Given the description of an element on the screen output the (x, y) to click on. 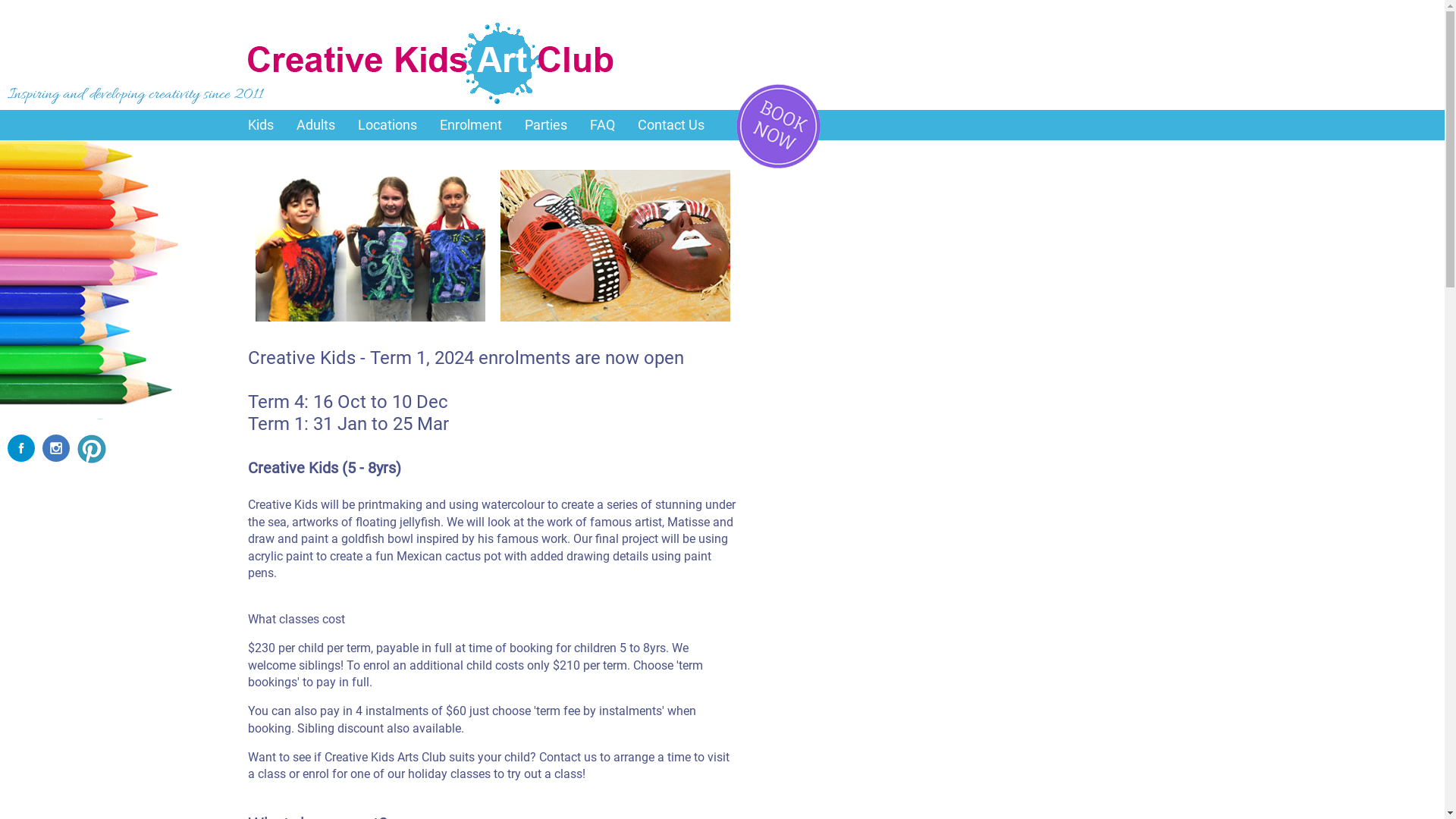
Kids Element type: text (260, 124)
Locations Element type: text (387, 124)
FAQ Element type: text (602, 124)
Contact Us Element type: text (670, 124)
Book Now Element type: text (778, 126)
Adults Element type: text (315, 124)
Enrolment Element type: text (470, 124)
Parties Element type: text (545, 124)
